Given the description of an element on the screen output the (x, y) to click on. 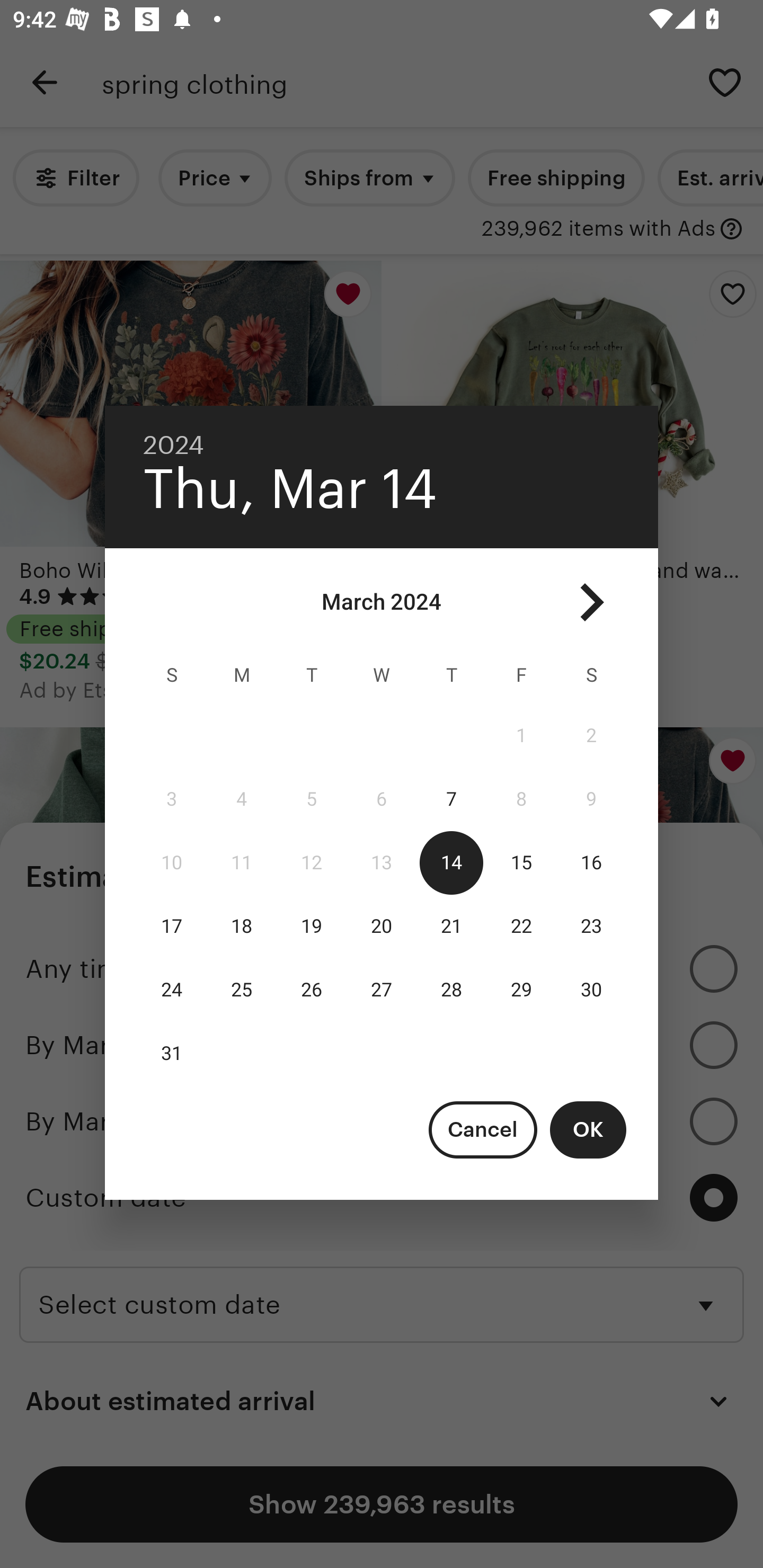
2024 (173, 444)
Thu, Mar 14 (290, 489)
Next month (591, 601)
1 01 March 2024 (521, 736)
2 02 March 2024 (591, 736)
3 03 March 2024 (171, 799)
4 04 March 2024 (241, 799)
5 05 March 2024 (311, 799)
6 06 March 2024 (381, 799)
7 07 March 2024 (451, 799)
8 08 March 2024 (521, 799)
9 09 March 2024 (591, 799)
10 10 March 2024 (171, 863)
11 11 March 2024 (241, 863)
12 12 March 2024 (311, 863)
13 13 March 2024 (381, 863)
14 14 March 2024 (451, 863)
15 15 March 2024 (521, 863)
16 16 March 2024 (591, 863)
17 17 March 2024 (171, 926)
18 18 March 2024 (241, 926)
19 19 March 2024 (311, 926)
20 20 March 2024 (381, 926)
21 21 March 2024 (451, 926)
22 22 March 2024 (521, 926)
23 23 March 2024 (591, 926)
24 24 March 2024 (171, 990)
25 25 March 2024 (241, 990)
26 26 March 2024 (311, 990)
27 27 March 2024 (381, 990)
28 28 March 2024 (451, 990)
29 29 March 2024 (521, 990)
30 30 March 2024 (591, 990)
31 31 March 2024 (171, 1053)
Cancel (482, 1129)
OK (588, 1129)
